Given the description of an element on the screen output the (x, y) to click on. 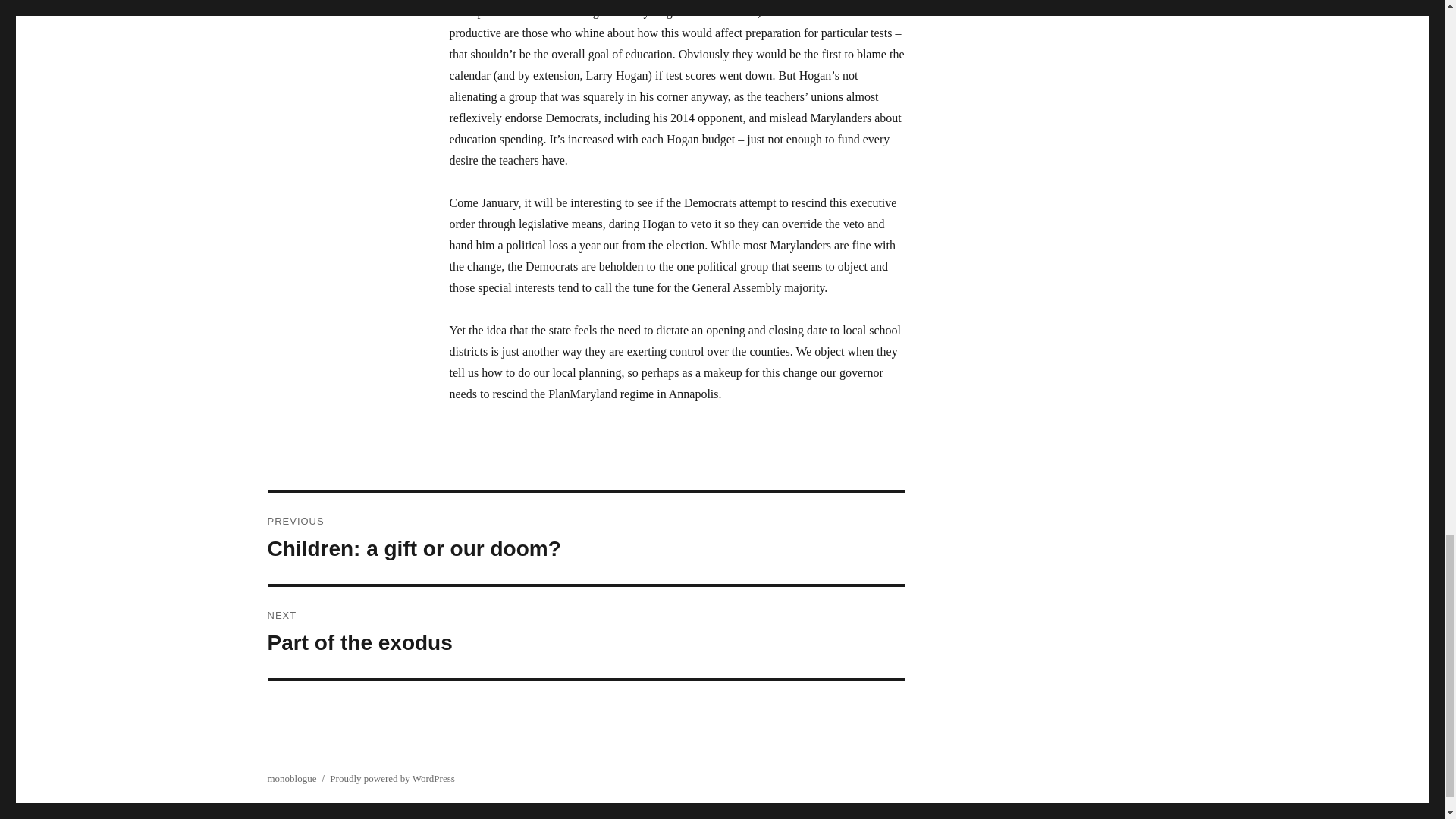
monoblogue (290, 778)
